Given the description of an element on the screen output the (x, y) to click on. 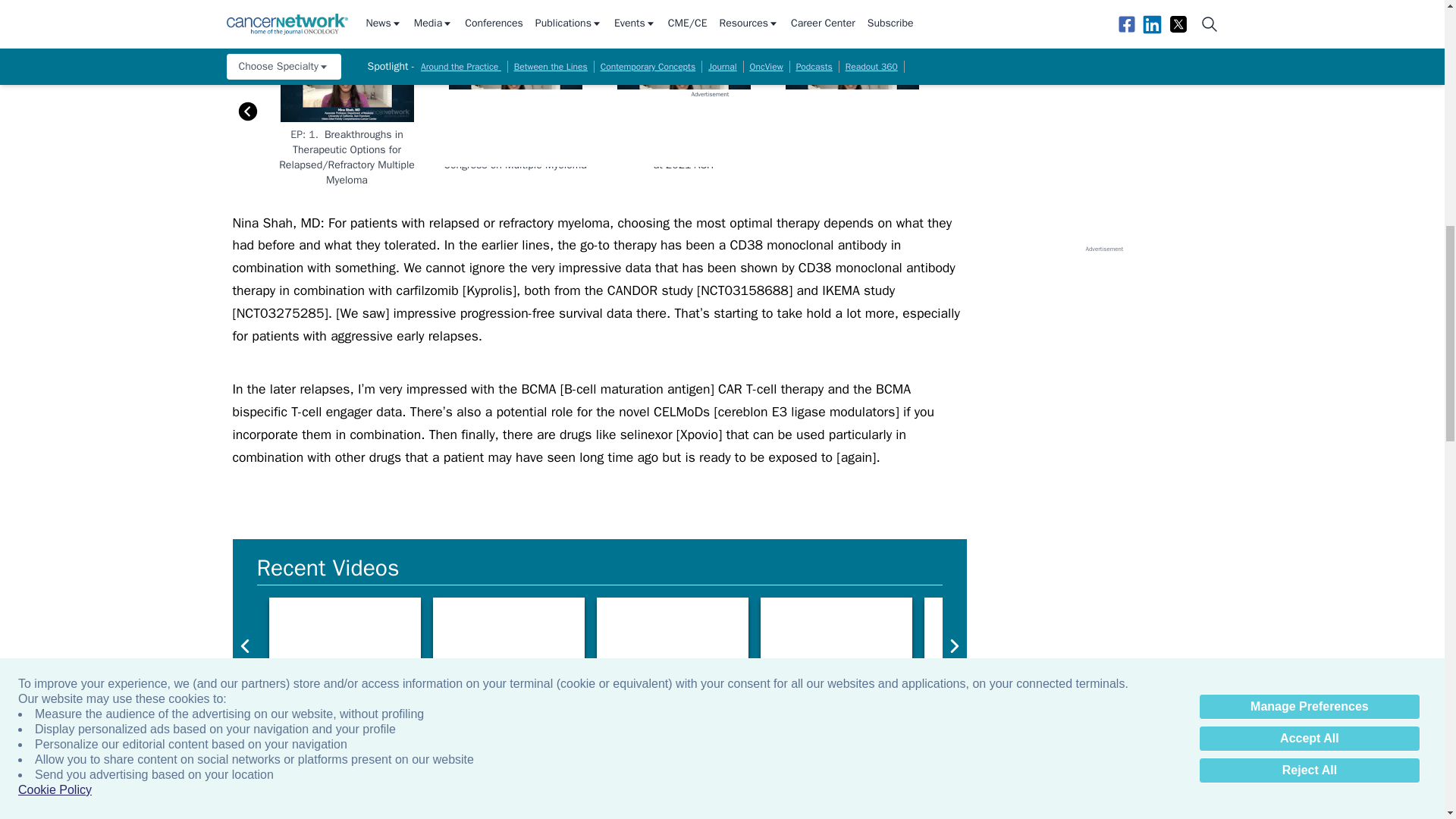
A panel of 4 experts on multiple myeloma (1326, 640)
A panel of 4 experts on multiple myeloma (835, 640)
A panel of 4 experts on multiple myeloma (343, 640)
A panel of 4 experts on multiple myeloma (507, 640)
A panel of 4 experts on multiple myeloma (671, 640)
A panel of 4 experts on multiple myeloma (999, 640)
A panel of 4 experts on multiple myeloma (1163, 640)
